Given the description of an element on the screen output the (x, y) to click on. 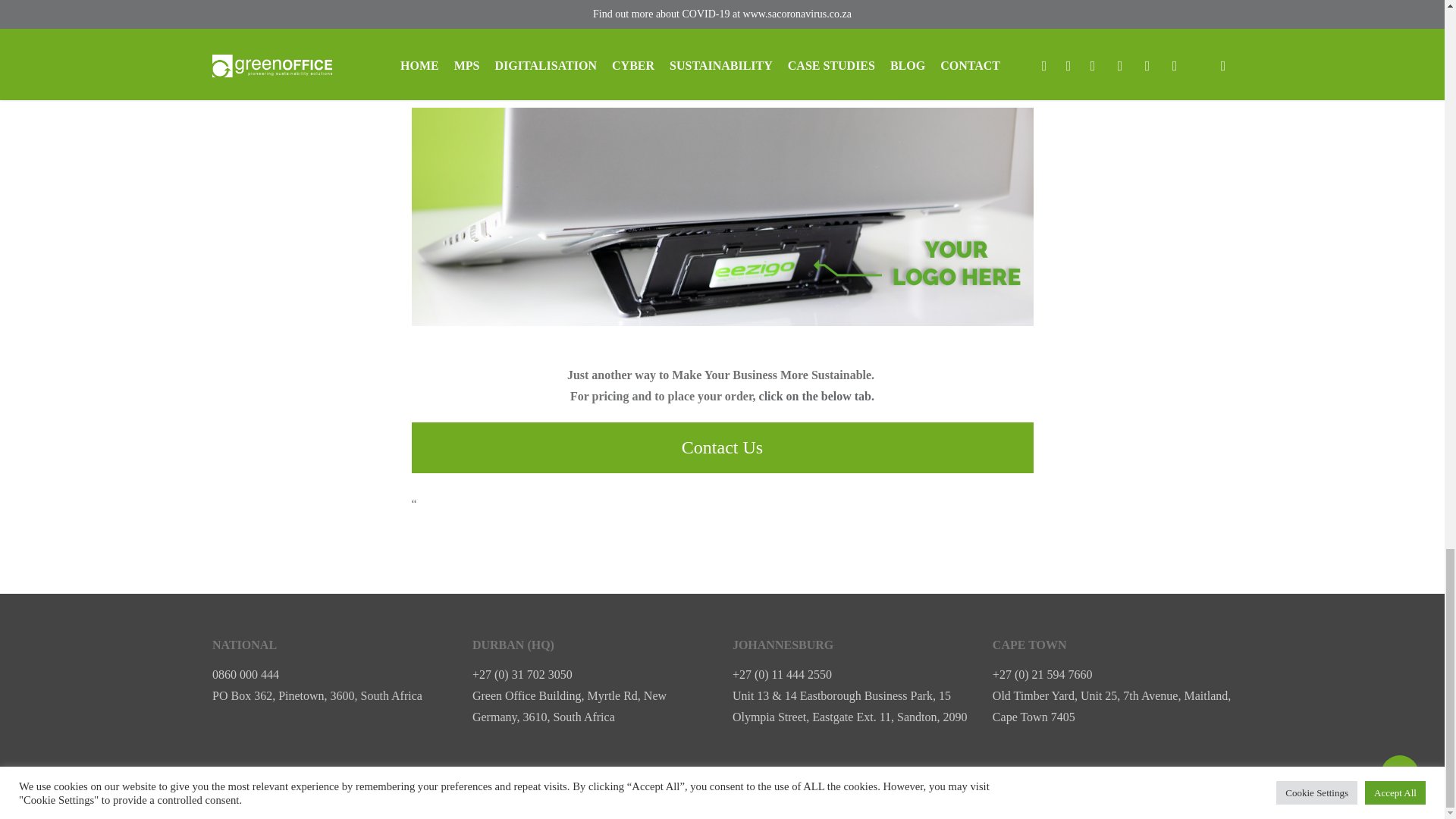
Contact Us (721, 447)
corporate gift to clients, (697, 75)
